Given the description of an element on the screen output the (x, y) to click on. 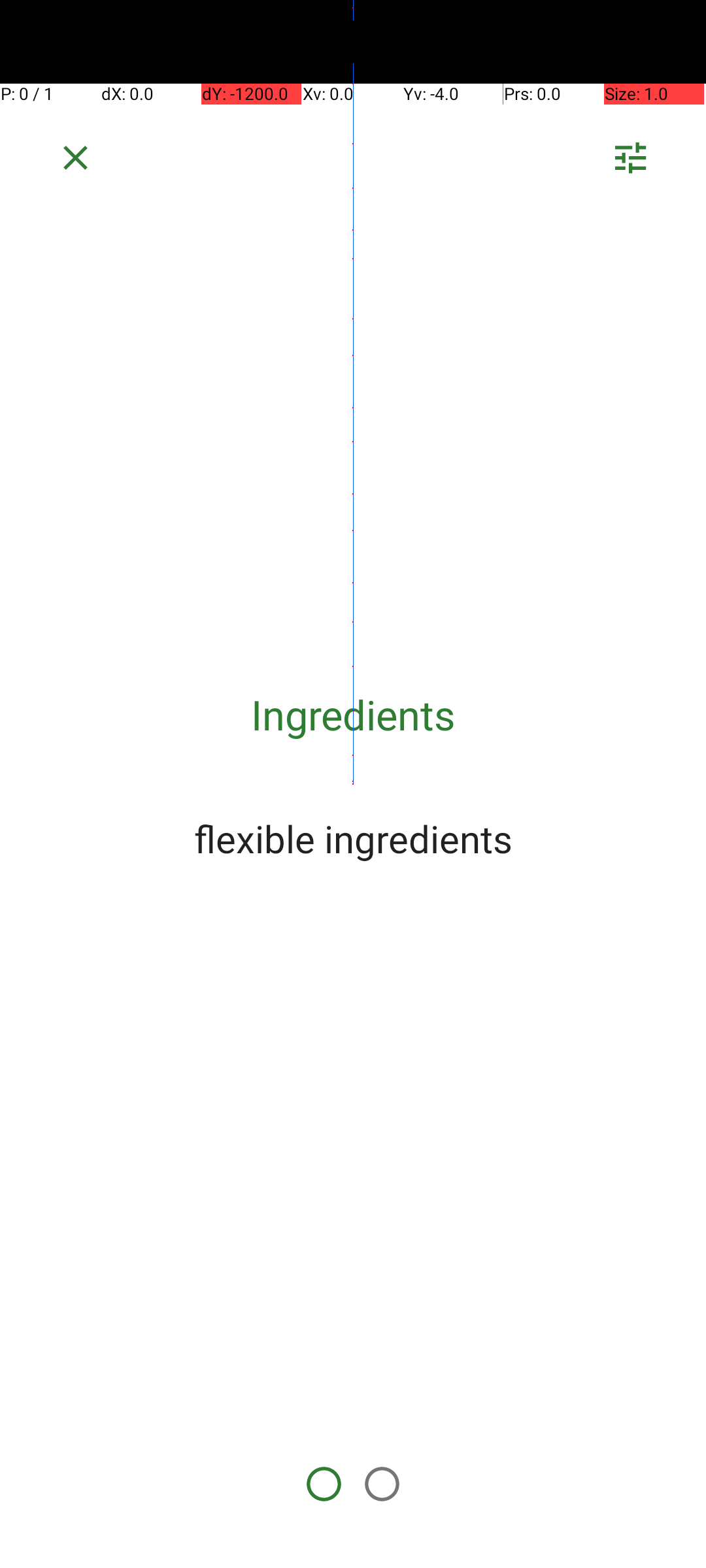
flexible ingredients Element type: android.widget.TextView (352, 838)
